Given the description of an element on the screen output the (x, y) to click on. 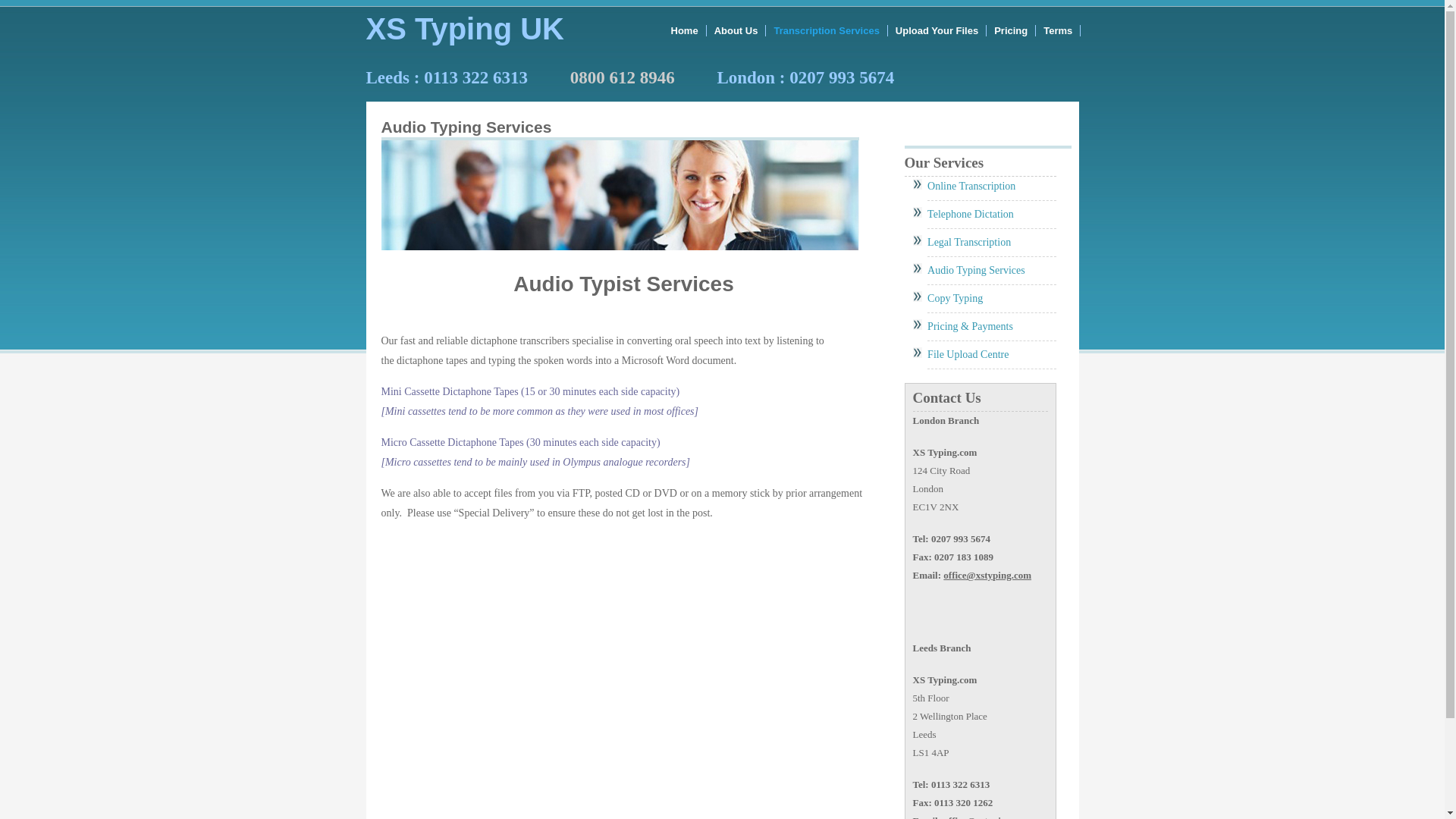
Telephone Dictation (970, 214)
Audio Typing Services (976, 270)
Fax it over or scan it in to be typed up into Word. (954, 297)
XS Typing UK (464, 28)
XS Typing UK (464, 28)
Competitive rates upfront with No VAT chargeable. (970, 326)
Transcription Services (825, 30)
